Given the description of an element on the screen output the (x, y) to click on. 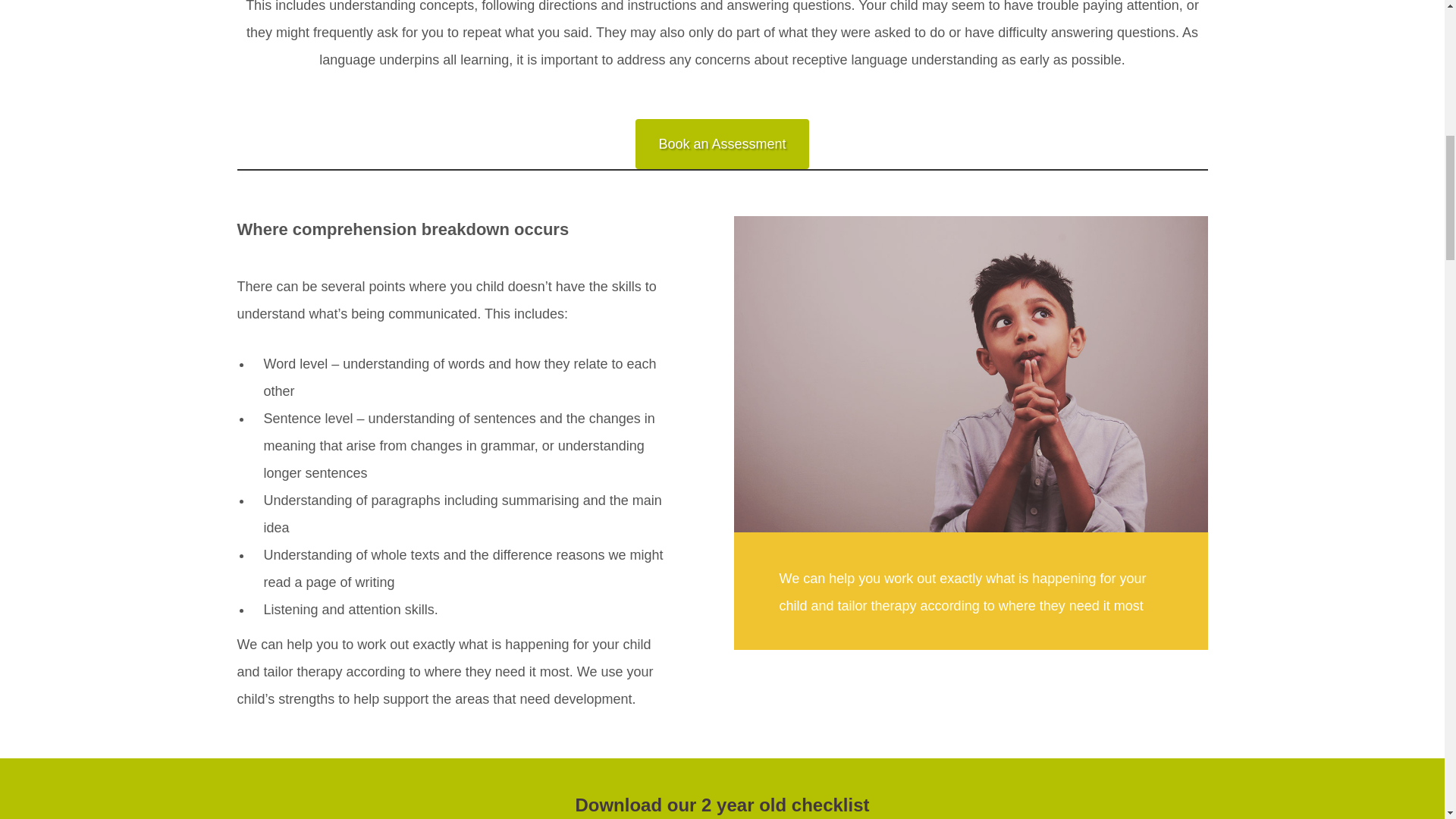
Book an Assessment (721, 143)
